Given the description of an element on the screen output the (x, y) to click on. 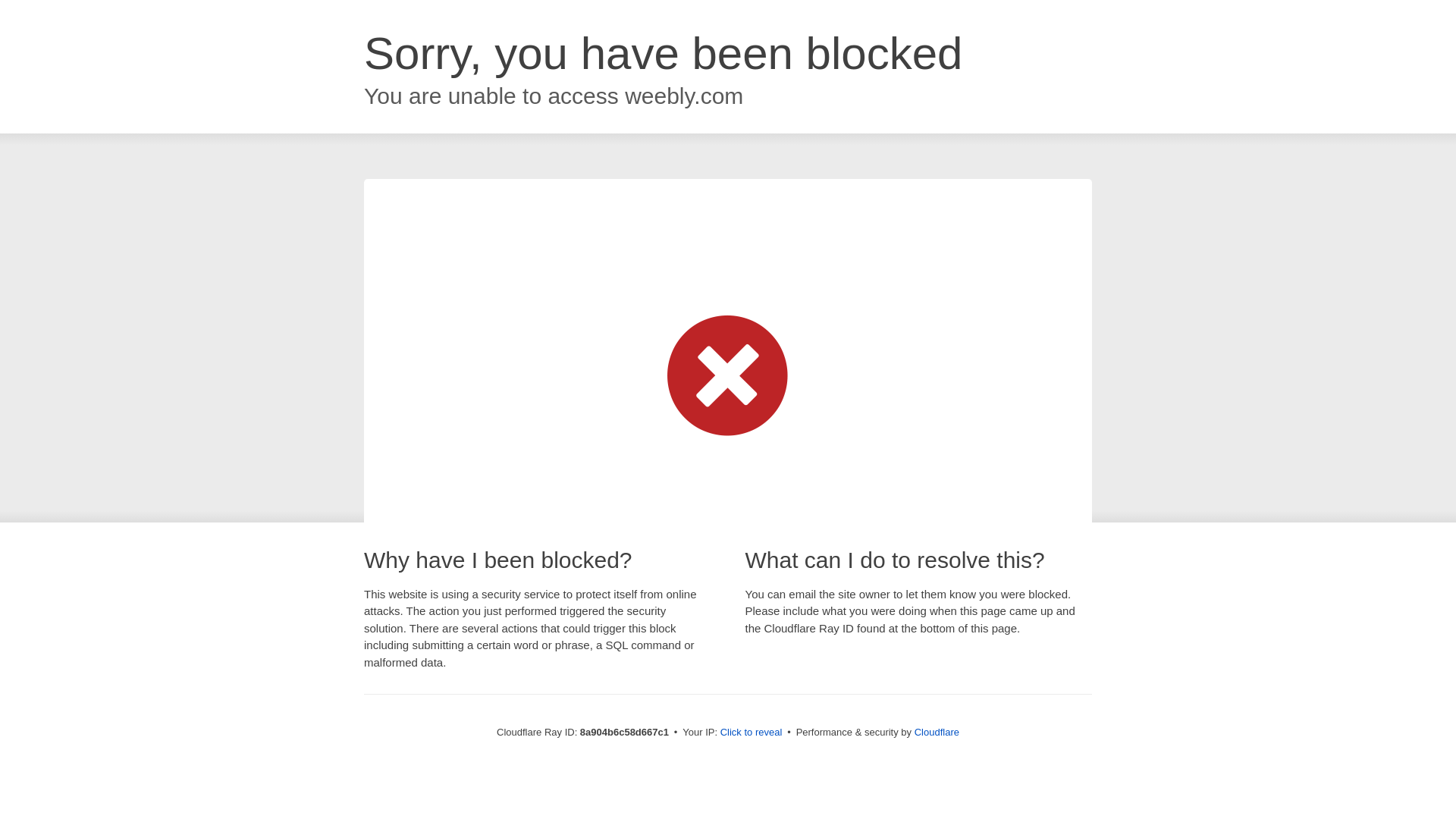
Click to reveal (751, 732)
Cloudflare (936, 731)
